Given the description of an element on the screen output the (x, y) to click on. 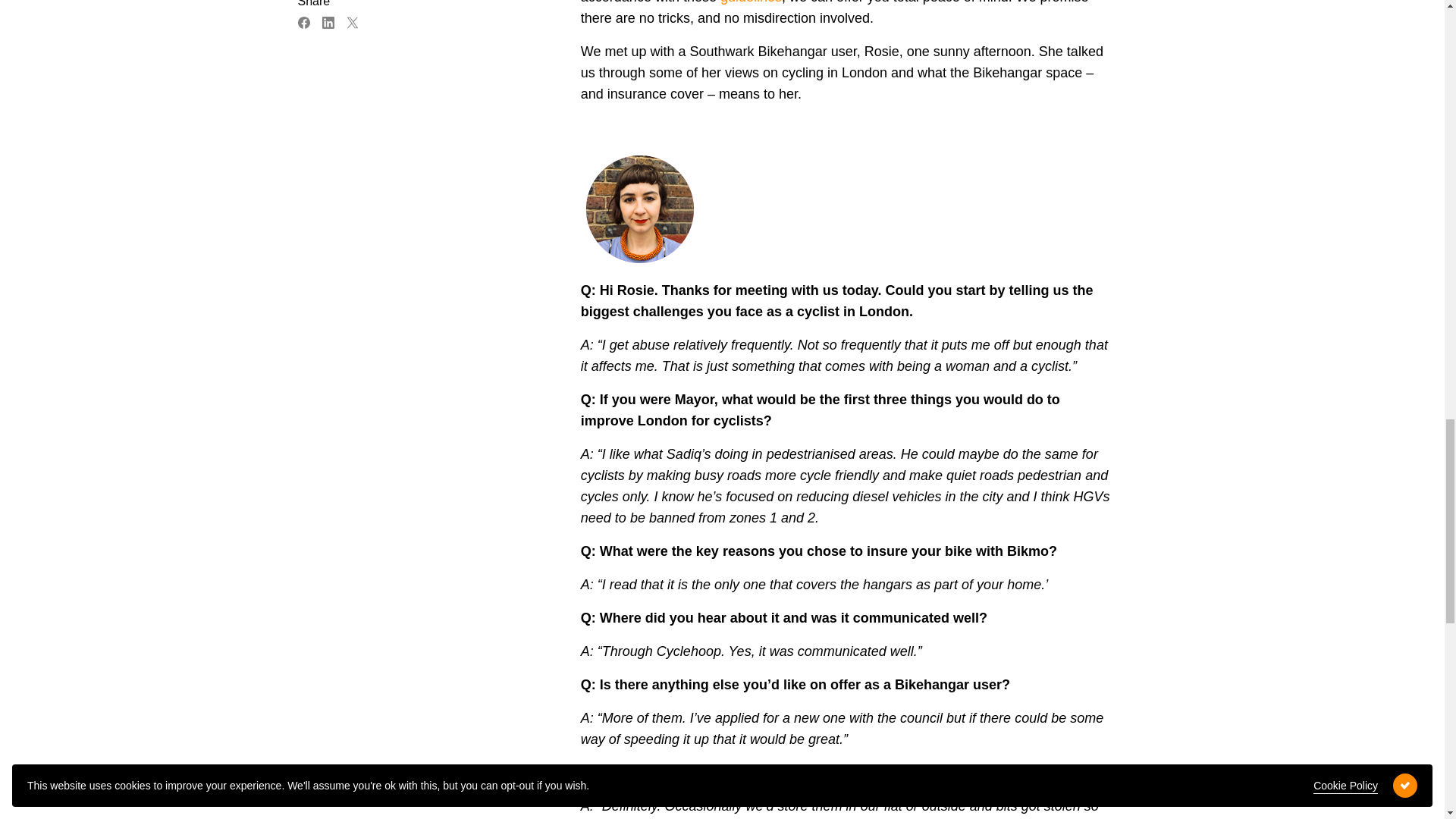
guidelines (750, 2)
